Given the description of an element on the screen output the (x, y) to click on. 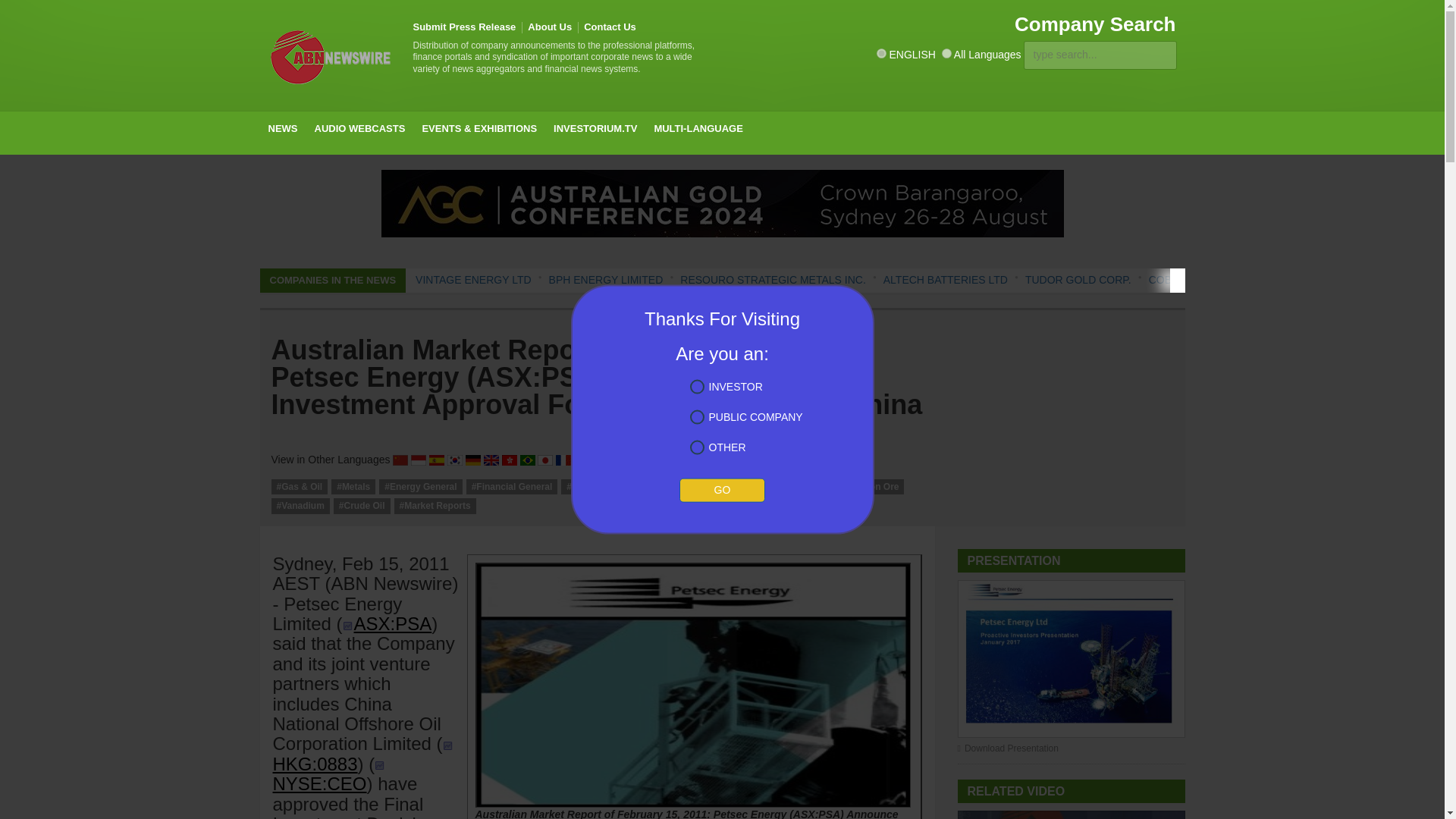
CHINESE TRAD Article Views:14164 (509, 459)
JAPANESE Article Views:13509 (545, 459)
Submit Press Release (463, 26)
PORTUGUESE Article Views:13577 (527, 459)
NEWS (282, 129)
LIFE SCIENCES (354, 163)
AUDIO WEBCASTS (359, 129)
en (881, 53)
Search in English (881, 53)
INDONESIAN Article Views:15260 (418, 459)
Search in ALL Languages (947, 53)
Metals (353, 486)
ARABIC Article Views:11761 (581, 459)
SPANISH Article Views:14816 (436, 459)
FRENCH Article Views:12831 (563, 459)
